Given the description of an element on the screen output the (x, y) to click on. 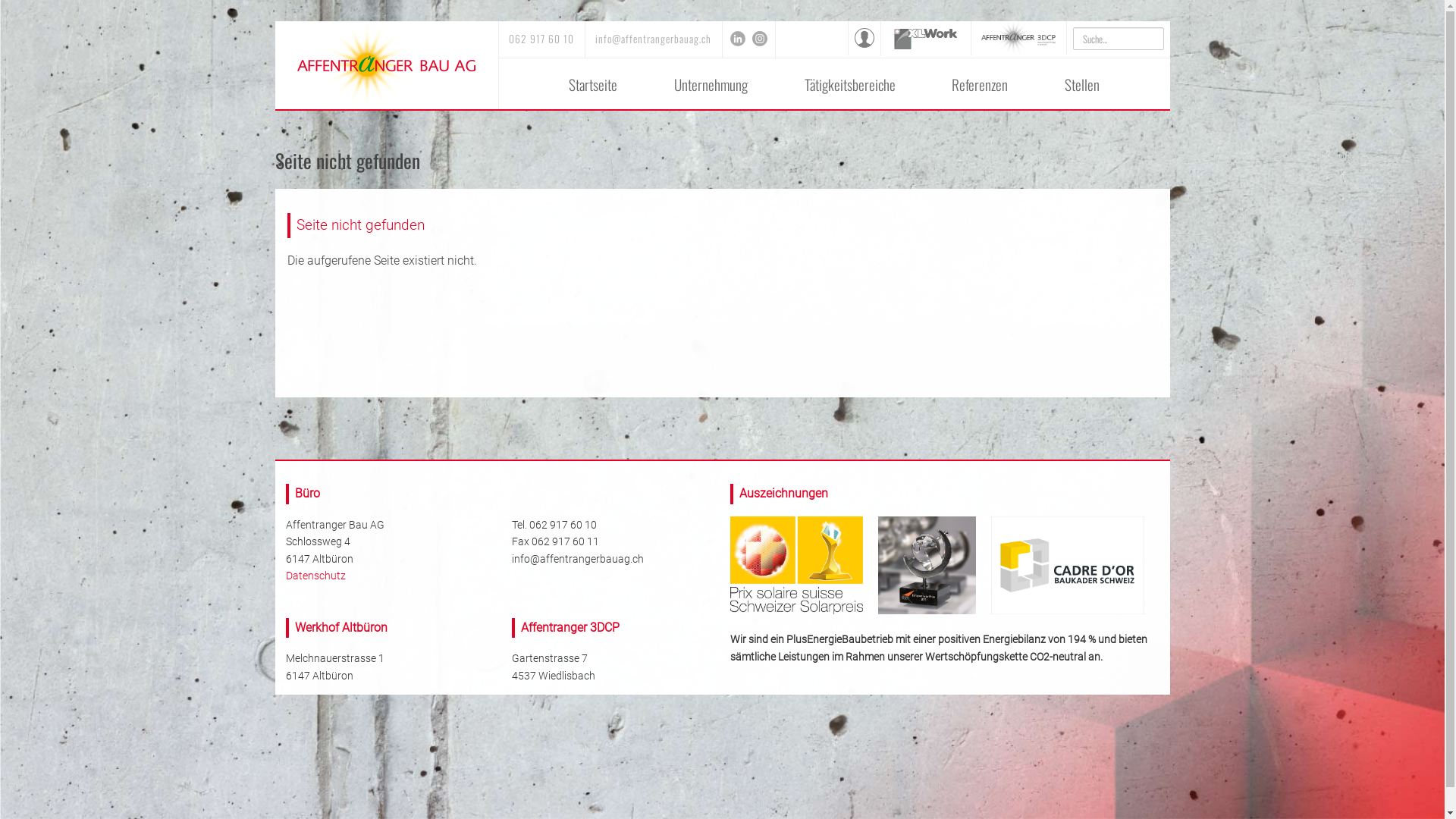
info@affentrangerbauag.ch Element type: text (653, 38)
Datenschutz Element type: text (315, 575)
Unternehmung Element type: text (710, 84)
062 917 60 10 Element type: text (562, 524)
Gartenstrasse 7
4537 Wiedlisbach Element type: text (552, 666)
Stellen Element type: text (1082, 84)
Referenzen Element type: text (979, 84)
Startseite Element type: text (592, 84)
Instagram Element type: hover (757, 39)
Intranet Element type: hover (864, 42)
062 917 60 10 Element type: text (541, 38)
LinkedIn Element type: hover (737, 39)
info@affentrangerbauag.ch Element type: text (577, 558)
